Given the description of an element on the screen output the (x, y) to click on. 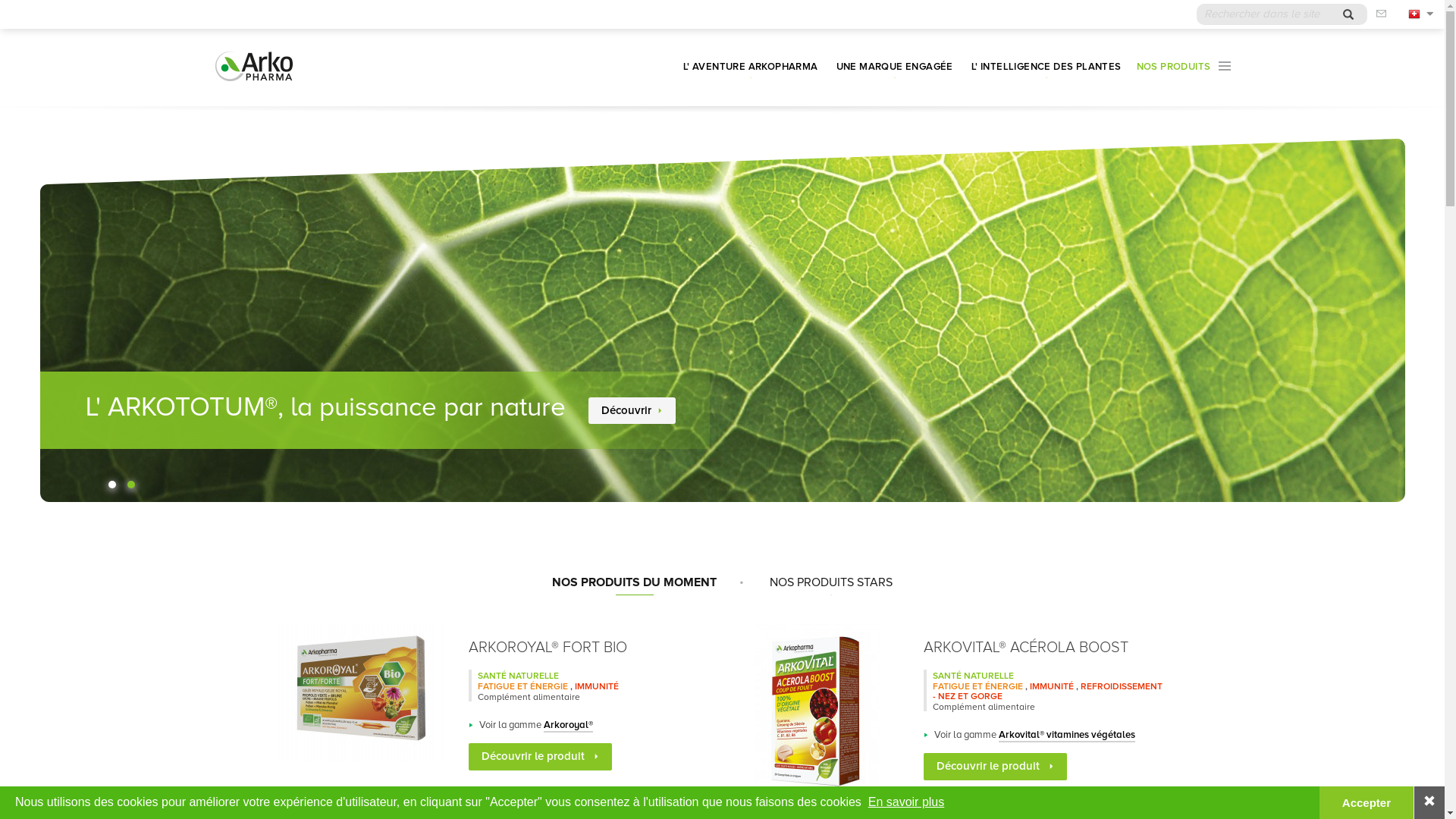
1 Element type: text (111, 484)
REFROIDISSEMENT - NEZ ET GORGE Element type: text (1047, 691)
L' AVENTURE ARKOPHARMA Element type: text (750, 66)
L' INTELLIGENCE DES PLANTES Element type: text (1046, 66)
2 Element type: text (130, 484)
NOS PRODUITS DU MOMENT Element type: text (634, 581)
Home Element type: hover (253, 66)
Skip to main content Element type: text (0, 0)
En savoir plus Element type: text (906, 802)
NOS PRODUITS STARS Element type: text (830, 581)
